Given the description of an element on the screen output the (x, y) to click on. 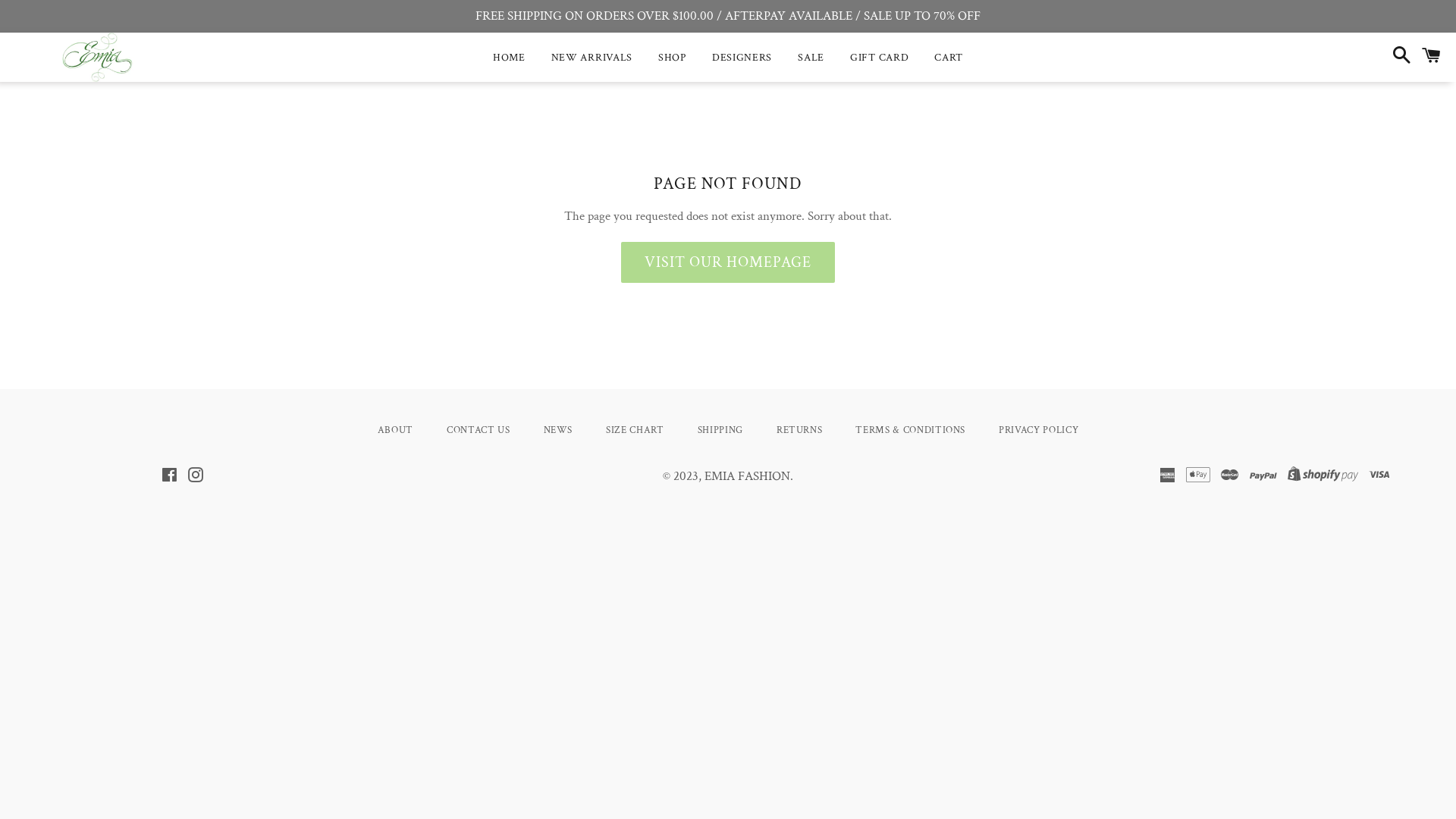
Search Element type: text (1397, 57)
RETURNS Element type: text (799, 430)
DESIGNERS Element type: text (741, 57)
CART Element type: text (948, 57)
CONTACT US Element type: text (478, 430)
VISIT OUR HOMEPAGE Element type: text (727, 261)
EMIA FASHION Element type: text (747, 475)
Facebook Element type: text (168, 476)
TERMS & CONDITIONS Element type: text (910, 430)
PRIVACY POLICY Element type: text (1038, 430)
NEWS Element type: text (558, 430)
Cart Element type: text (1431, 57)
SALE Element type: text (810, 57)
Instagram Element type: text (195, 476)
ABOUT Element type: text (395, 430)
HOME Element type: text (508, 57)
SHIPPING Element type: text (720, 430)
NEW ARRIVALS Element type: text (591, 57)
SIZE CHART Element type: text (634, 430)
SHOP Element type: text (671, 57)
GIFT CARD Element type: text (878, 57)
